Given the description of an element on the screen output the (x, y) to click on. 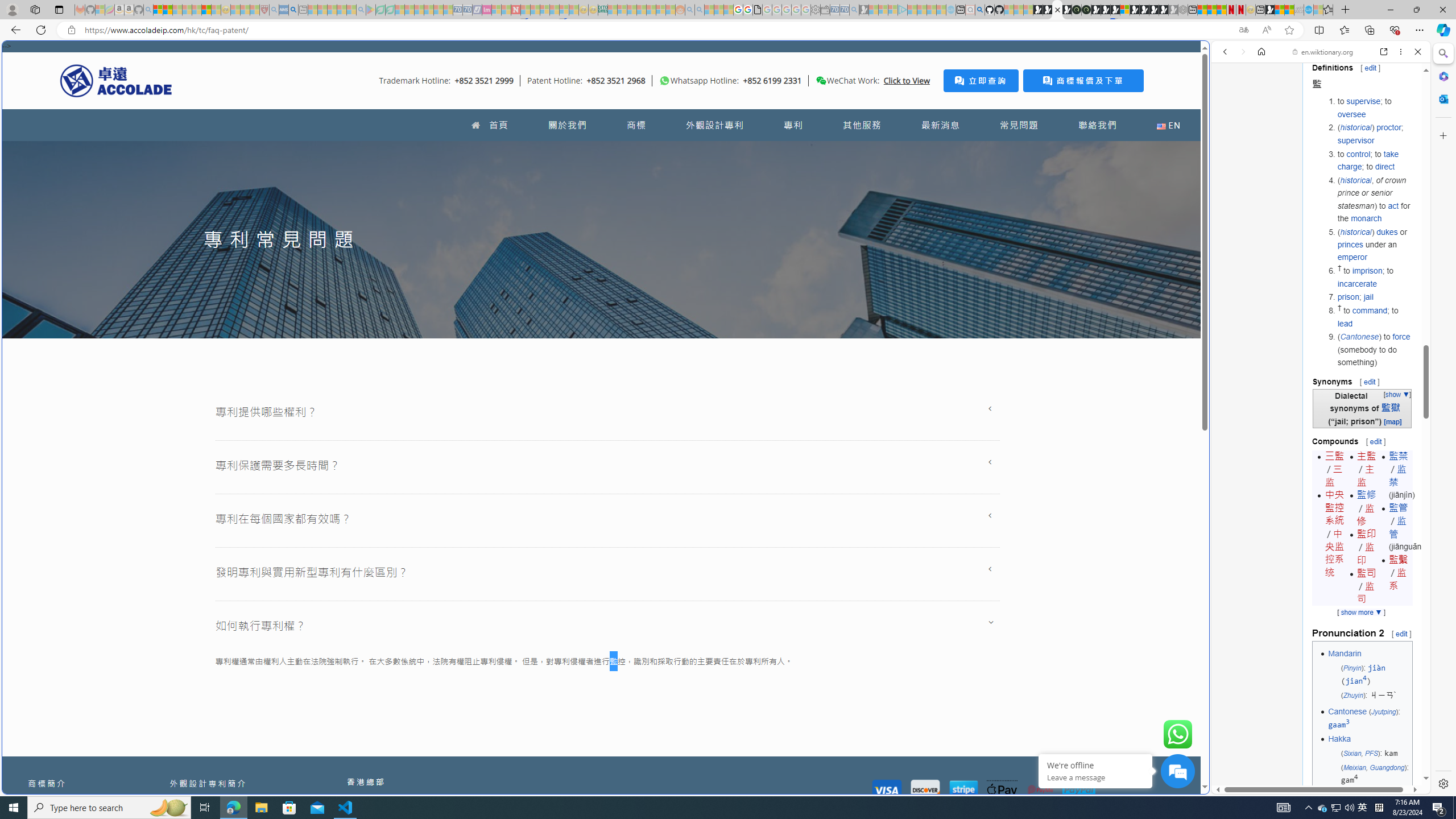
Hakka (1339, 738)
incarcerate (1356, 283)
prison; jail (1374, 296)
